Given the description of an element on the screen output the (x, y) to click on. 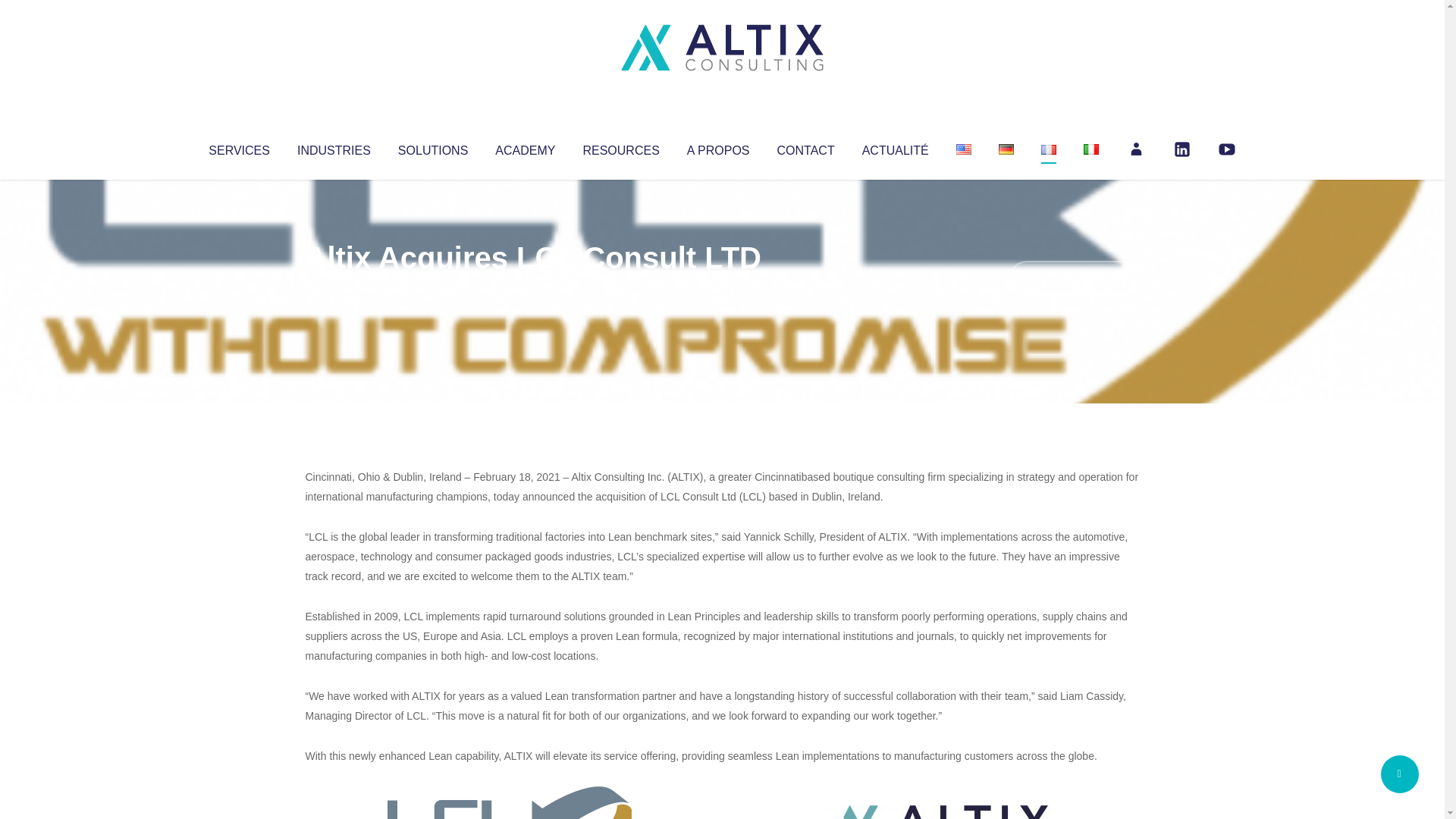
SERVICES (238, 146)
SOLUTIONS (432, 146)
ACADEMY (524, 146)
RESOURCES (620, 146)
Uncategorized (530, 287)
INDUSTRIES (334, 146)
Altix (333, 287)
A PROPOS (718, 146)
Articles par Altix (333, 287)
No Comments (1073, 278)
